Given the description of an element on the screen output the (x, y) to click on. 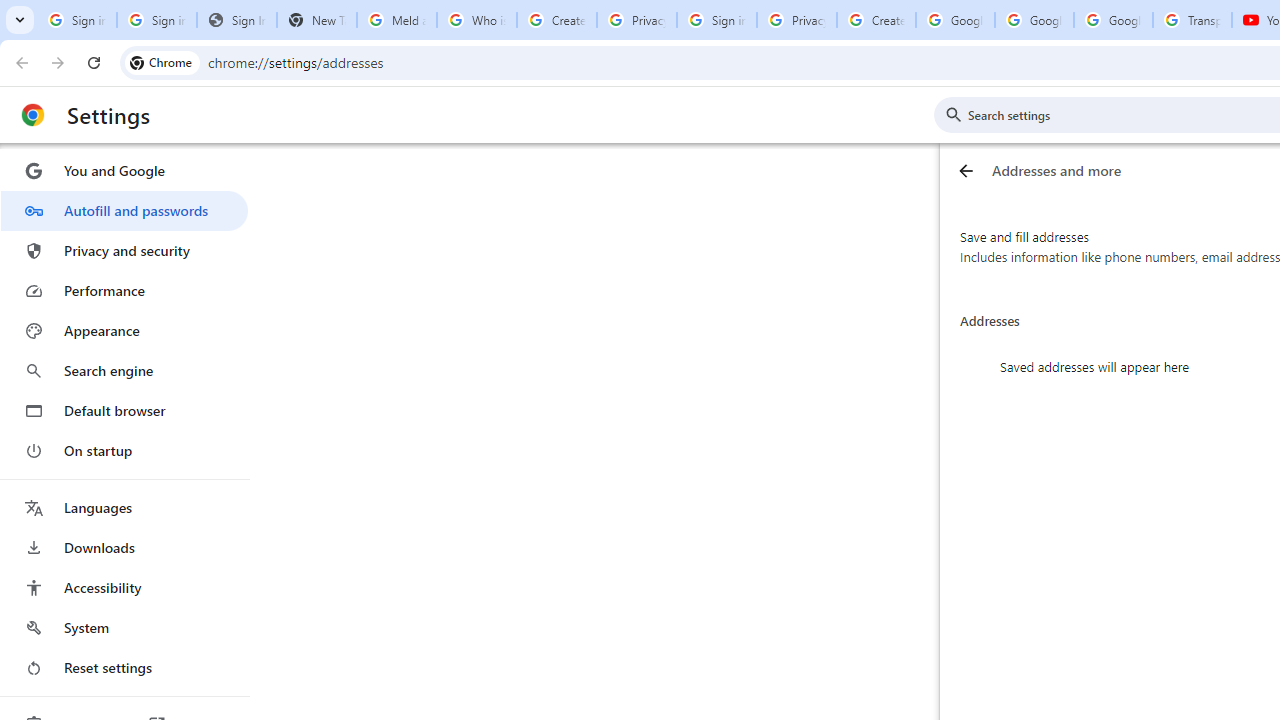
On startup (124, 450)
Google Account (1113, 20)
New Tab (316, 20)
Create your Google Account (876, 20)
Downloads (124, 547)
Sign in - Google Accounts (716, 20)
Sign In - USA TODAY (236, 20)
Appearance (124, 331)
